Given the description of an element on the screen output the (x, y) to click on. 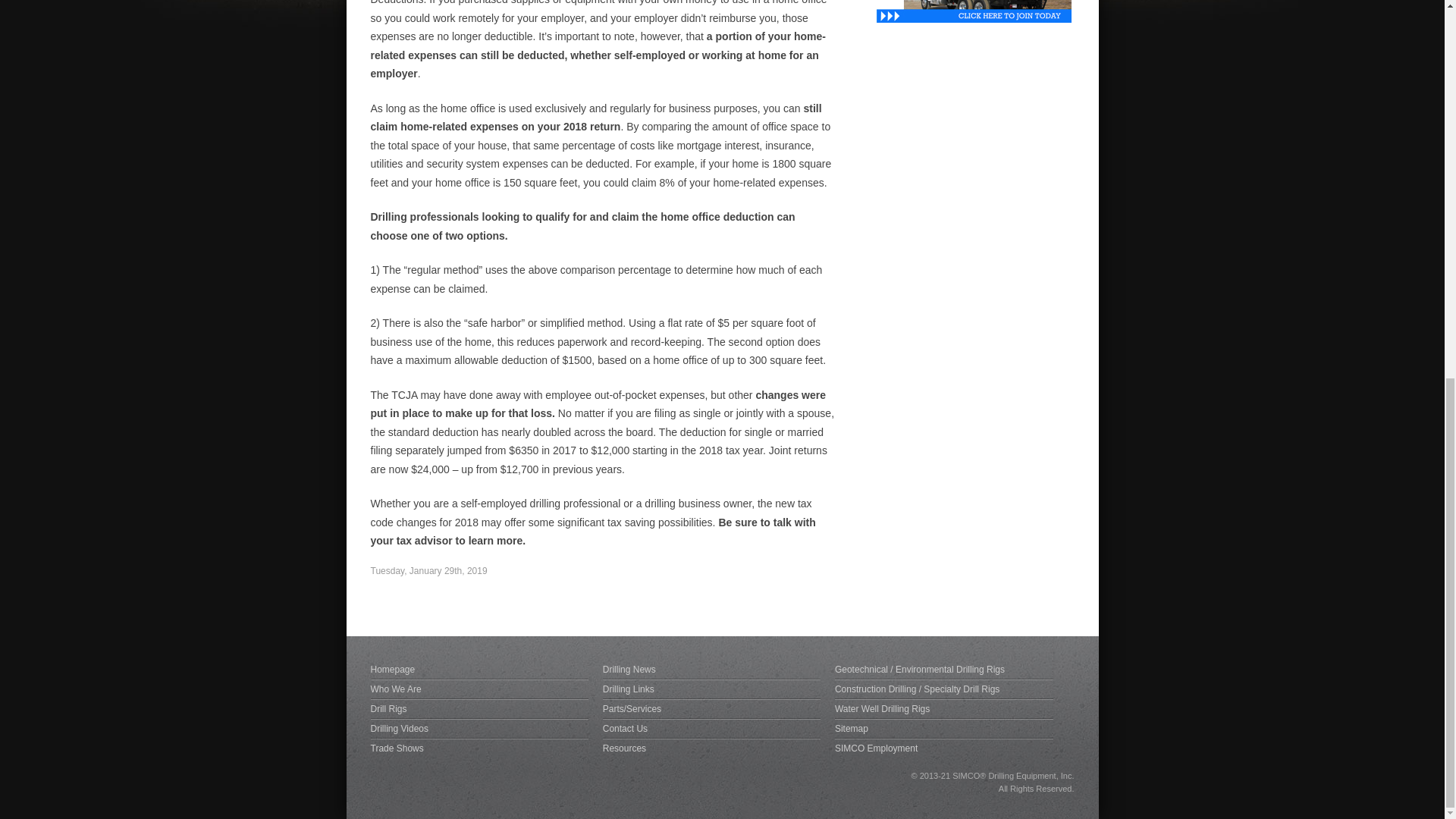
Drilling Videos (478, 727)
Homepage (478, 669)
Water Well Drilling Rigs (943, 708)
Trade Shows (478, 746)
Resources (711, 746)
Who We Are (478, 688)
Drill Rigs (478, 708)
Drilling Links (711, 688)
Drilling News (711, 669)
Contact Us (711, 727)
